Given the description of an element on the screen output the (x, y) to click on. 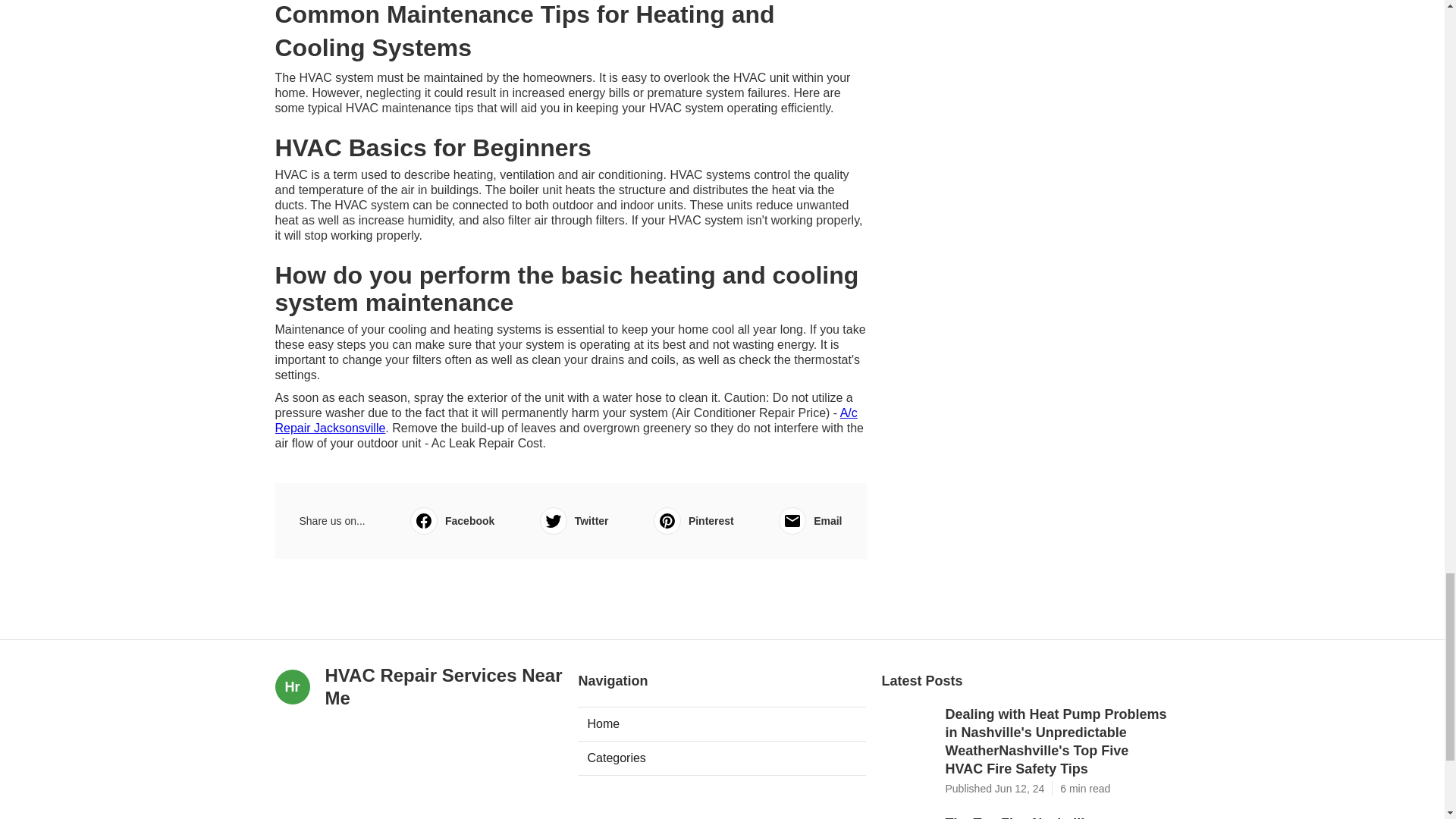
Pinterest (693, 520)
Facebook (452, 520)
Twitter (574, 520)
Email (809, 520)
